Given the description of an element on the screen output the (x, y) to click on. 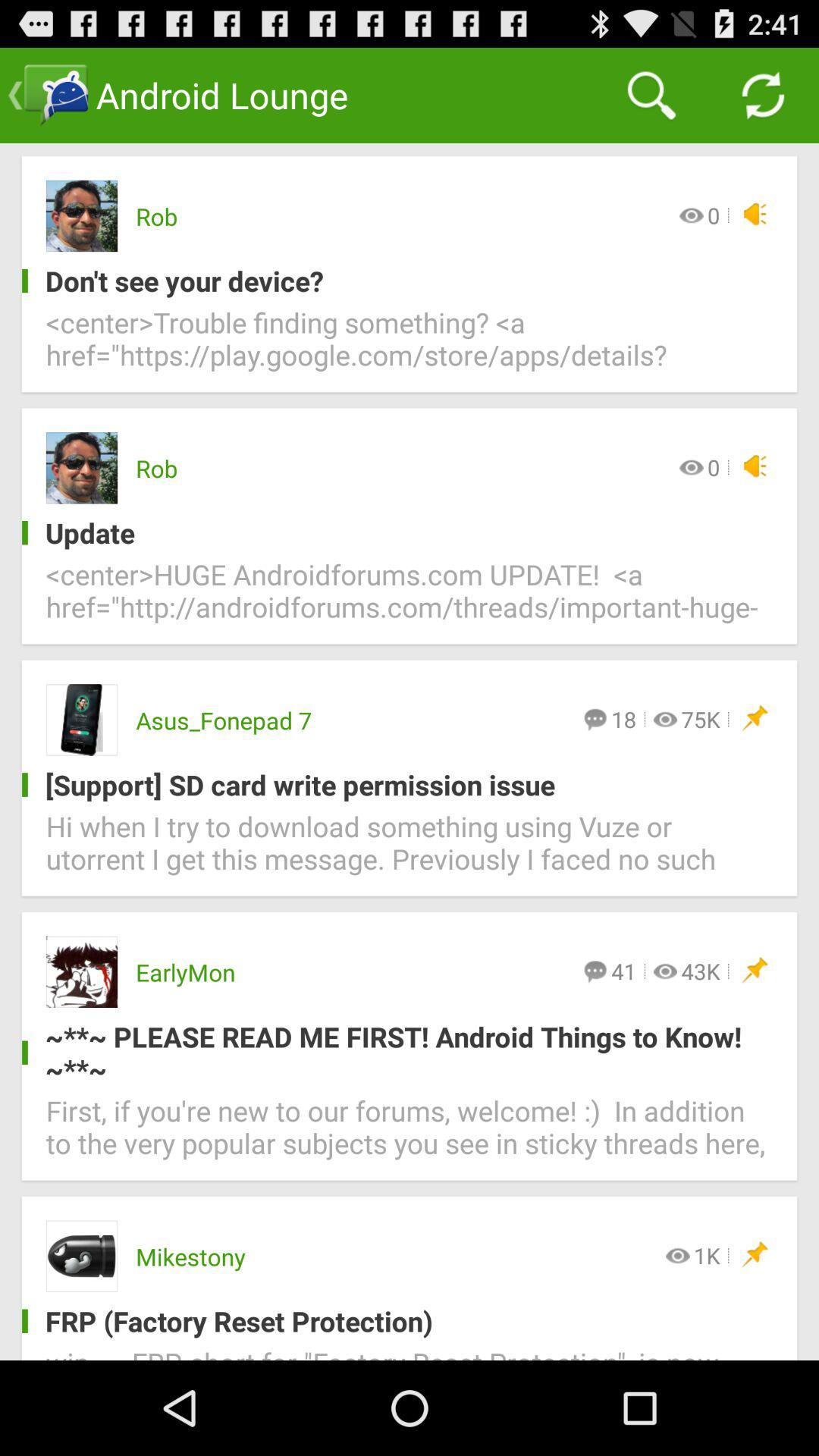
jump to the center huge androidforums icon (409, 599)
